Given the description of an element on the screen output the (x, y) to click on. 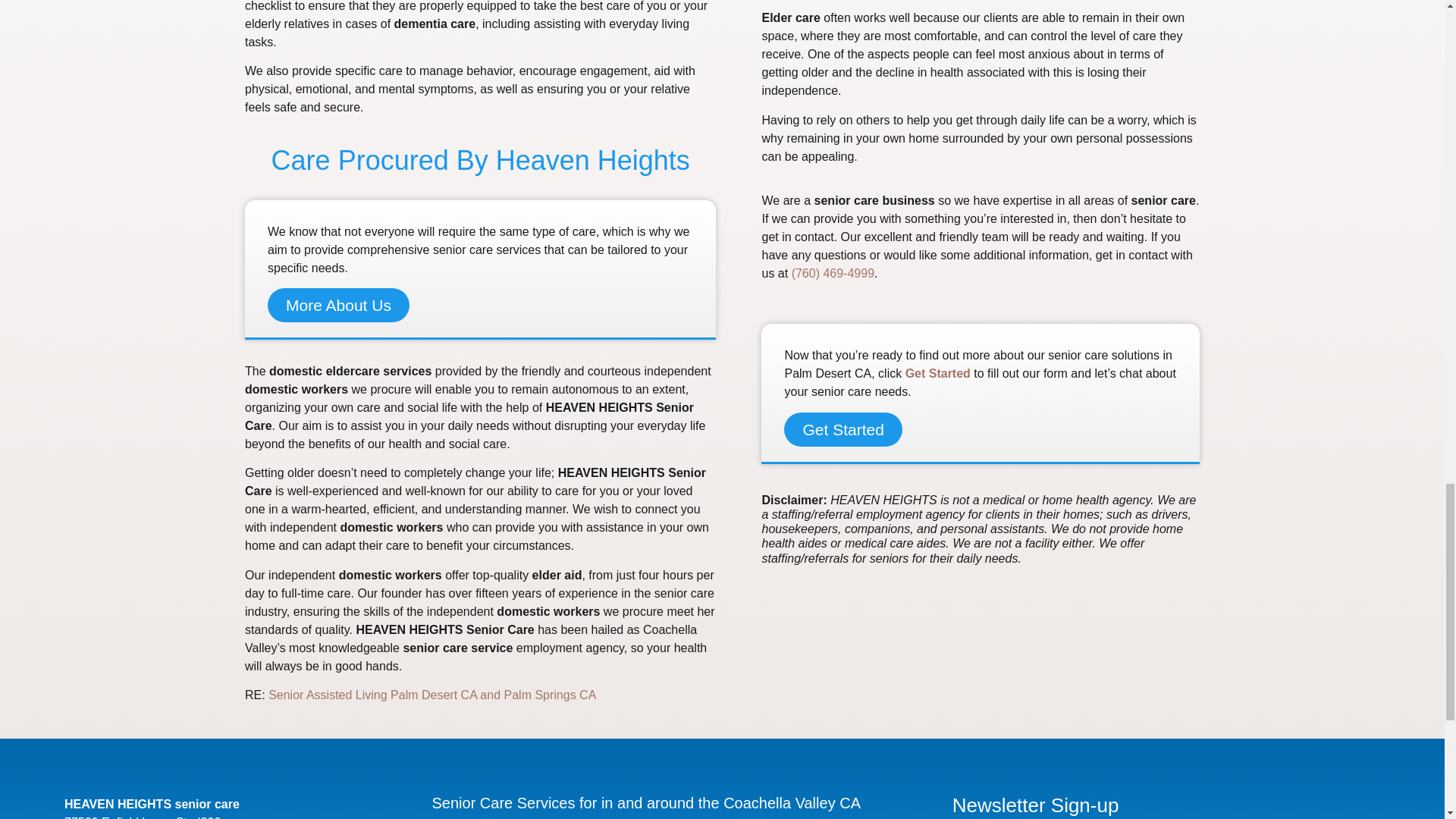
Get Started (938, 373)
Senior Assisted Living Palm Desert CA and Palm Springs CA (431, 694)
More About Us (338, 305)
Get Started (842, 429)
